Given the description of an element on the screen output the (x, y) to click on. 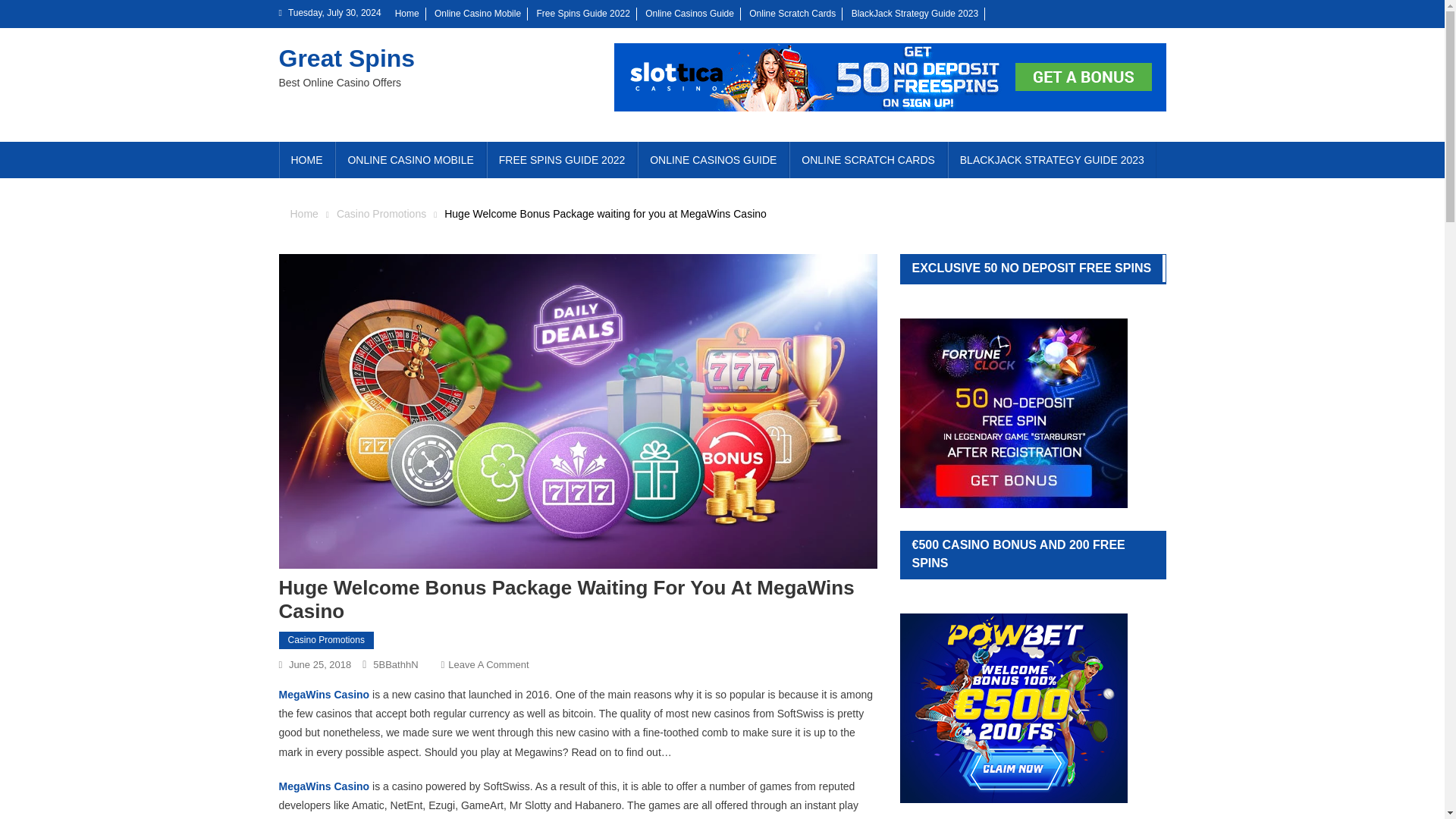
Online Casino Mobile (477, 13)
BlackJack Strategy Guide 2023 (914, 13)
Casino Promotions (326, 640)
ONLINE CASINO MOBILE (409, 159)
ONLINE CASINOS GUIDE (713, 159)
5BBathhN (394, 664)
June 25, 2018 (319, 664)
Free Spins Guide 2022 (581, 13)
Home (303, 214)
FREE SPINS GUIDE 2022 (561, 159)
Home (406, 13)
HOME (306, 159)
Casino Promotions (381, 214)
Online Casinos Guide (689, 13)
